Given the description of an element on the screen output the (x, y) to click on. 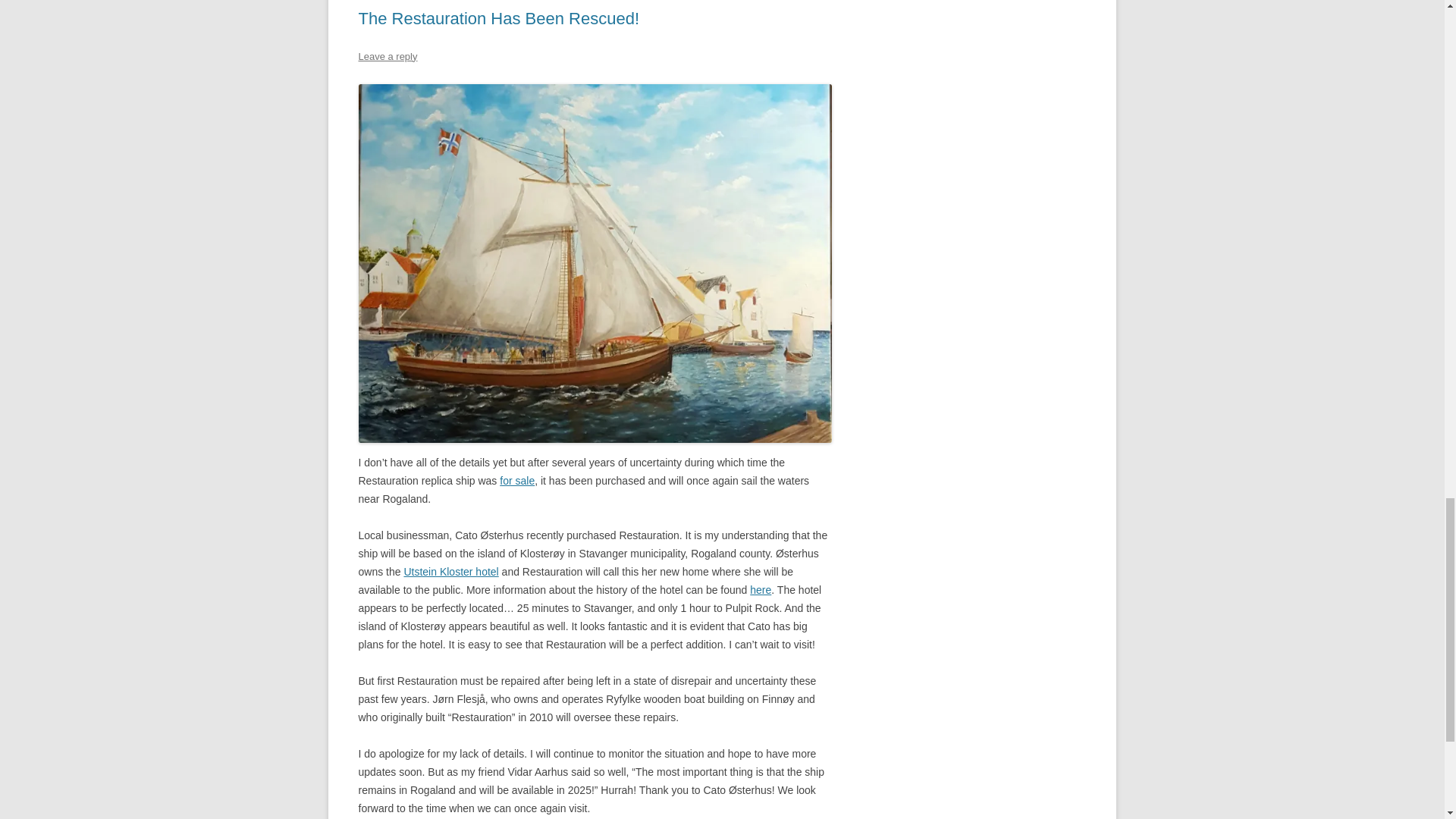
for sale (516, 480)
The Restauration Has Been Rescued! (498, 18)
Utstein Kloster hotel (450, 571)
Leave a reply (387, 56)
here (760, 589)
